Given the description of an element on the screen output the (x, y) to click on. 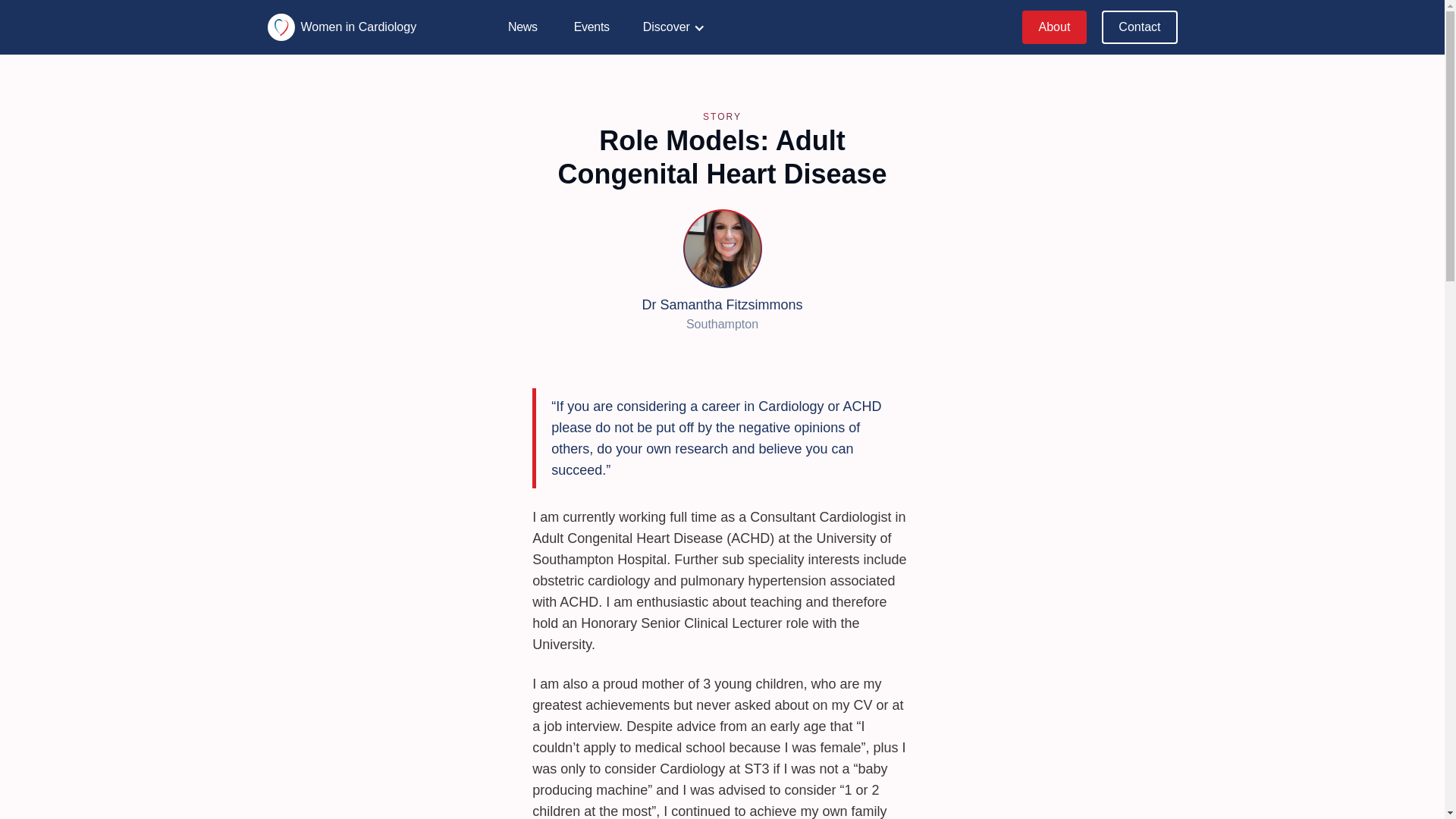
News (522, 27)
Women in Cardiology (348, 26)
About (1054, 27)
Contact (1139, 27)
Events (591, 27)
